Given the description of an element on the screen output the (x, y) to click on. 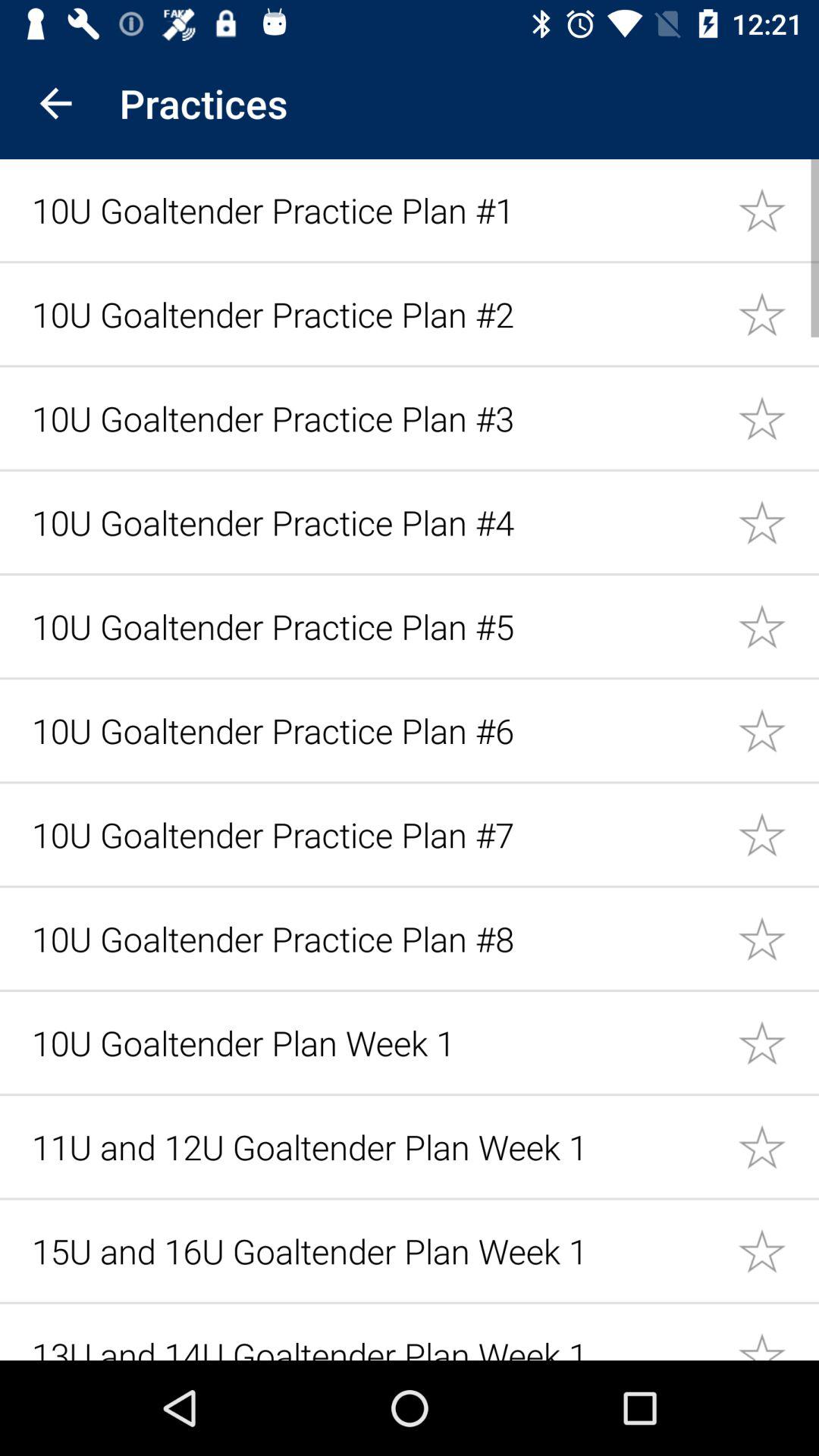
mark as favorite (778, 313)
